Given the description of an element on the screen output the (x, y) to click on. 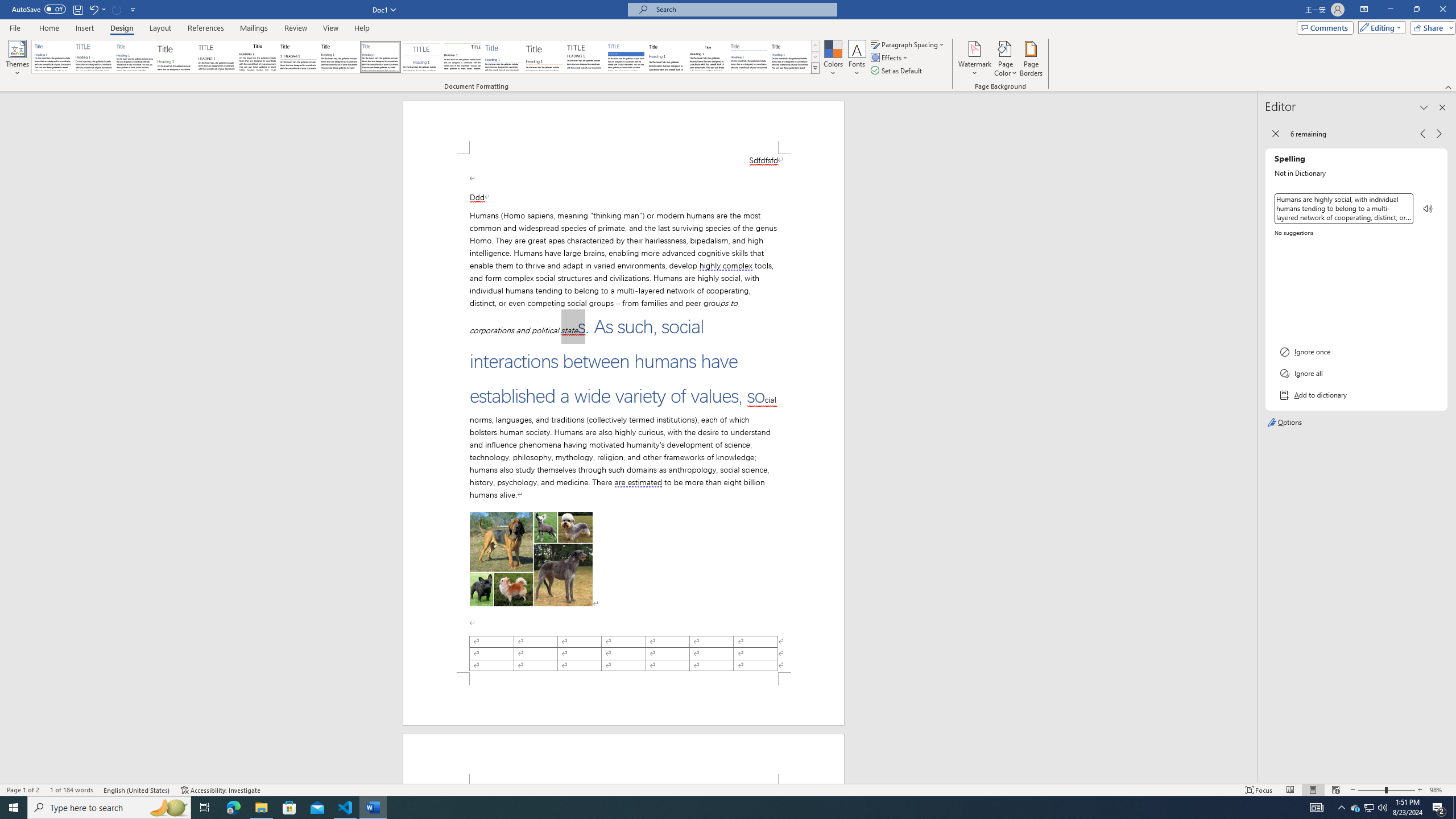
Back (1275, 133)
Casual (379, 56)
Set as Default (897, 69)
Next Issue, 6 remaining (1439, 133)
Lines (Distinctive) (462, 56)
Page Number Page 1 of 2 (22, 790)
Effects (890, 56)
